Given the description of an element on the screen output the (x, y) to click on. 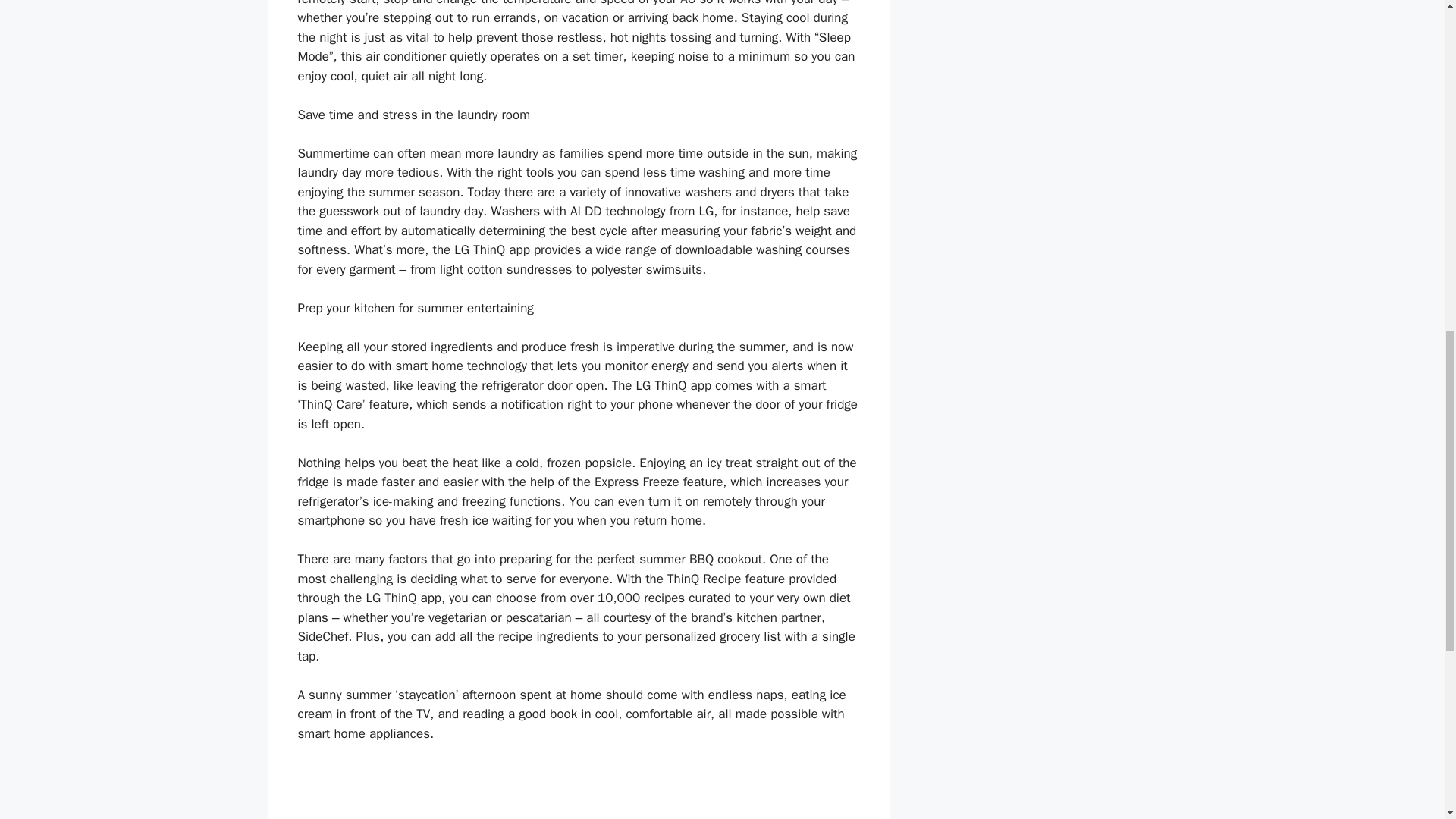
Advertisement (578, 792)
